Given the description of an element on the screen output the (x, y) to click on. 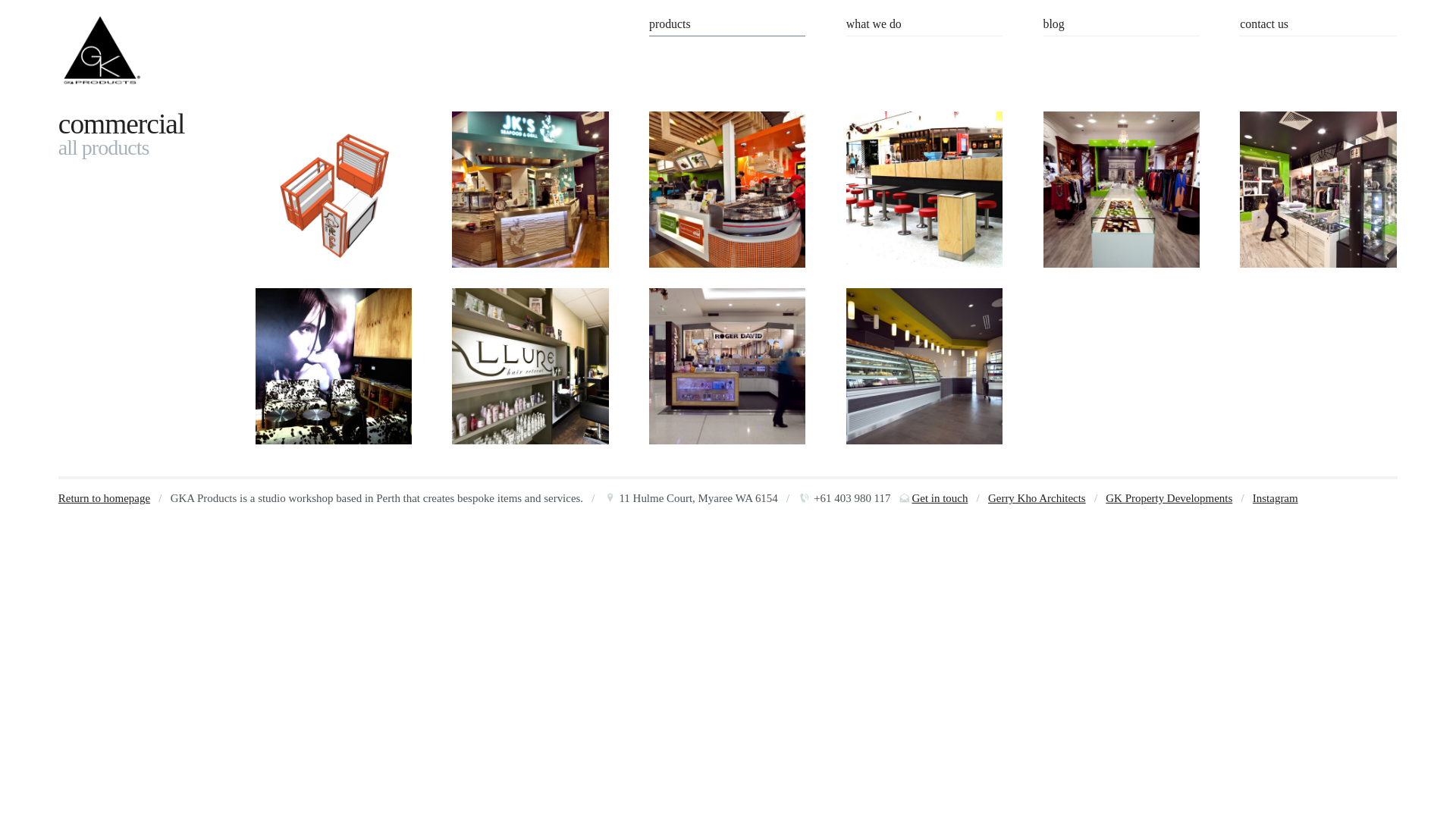
Get in touch Element type: text (939, 498)
Gerry Kho Architects Element type: text (1036, 498)
GK Property Developments Element type: text (1168, 498)
Instagram Element type: text (1275, 498)
all products Element type: text (103, 147)
gerry kho products Element type: text (99, 53)
contact us Element type: text (1317, 25)
products Element type: text (727, 25)
what we do Element type: text (924, 25)
blog Element type: text (1121, 25)
Return to homepage Element type: text (104, 498)
